Given the description of an element on the screen output the (x, y) to click on. 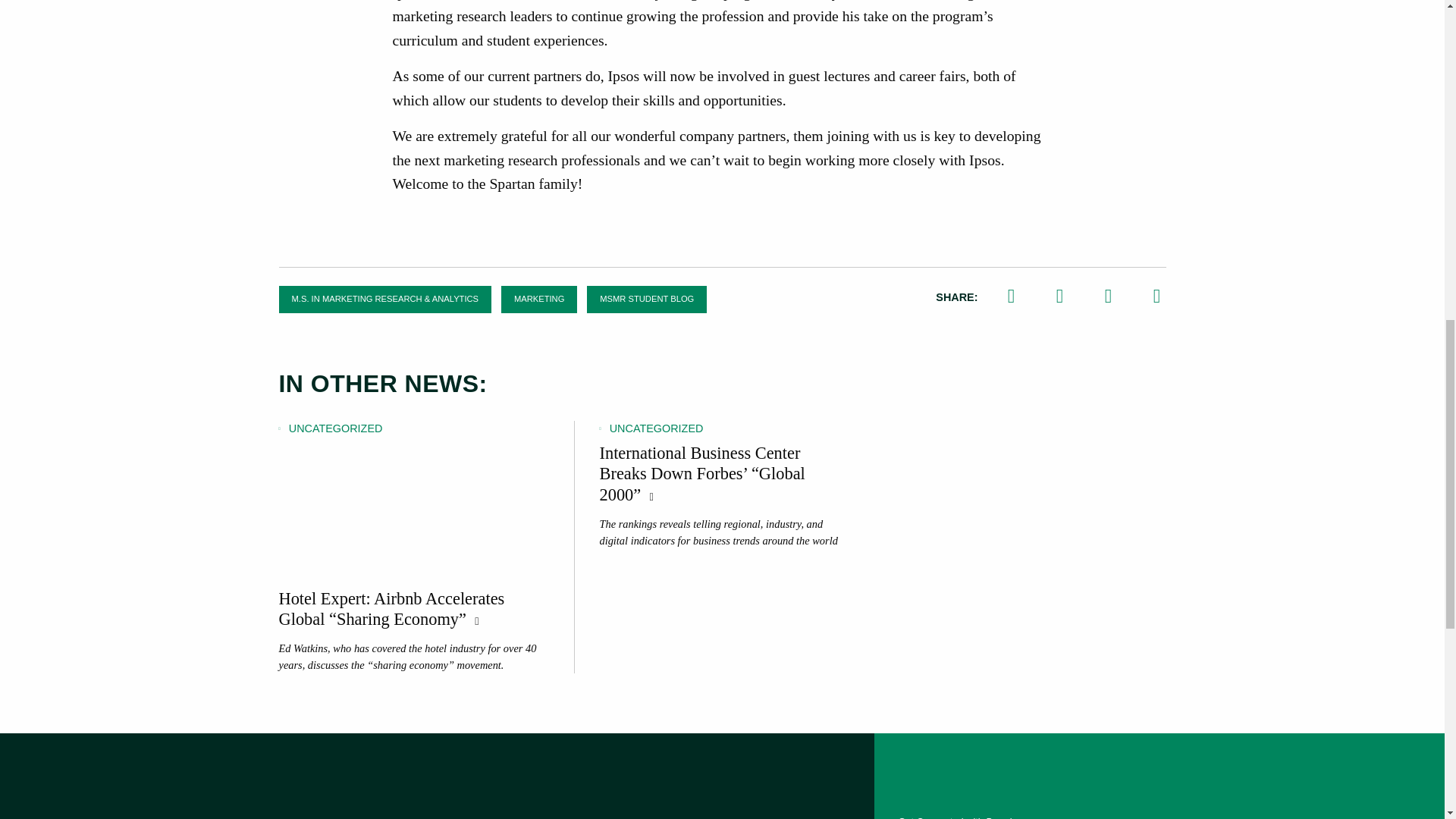
linkedin share in new window (1060, 298)
facebook share in new window (1156, 298)
twitter share in new window (1010, 298)
Email (1108, 298)
